Given the description of an element on the screen output the (x, y) to click on. 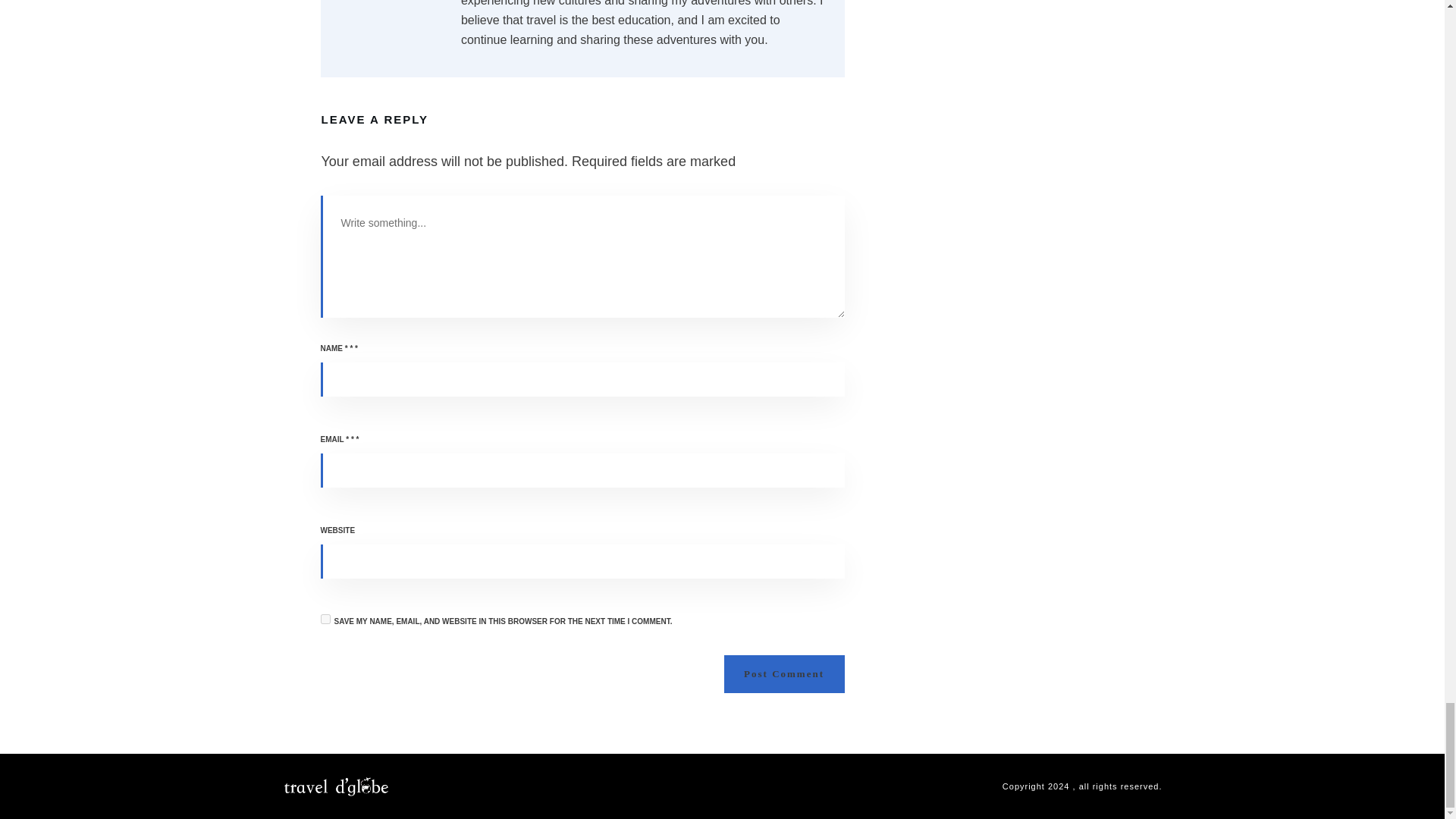
Post Comment (783, 673)
yes (325, 619)
